Given the description of an element on the screen output the (x, y) to click on. 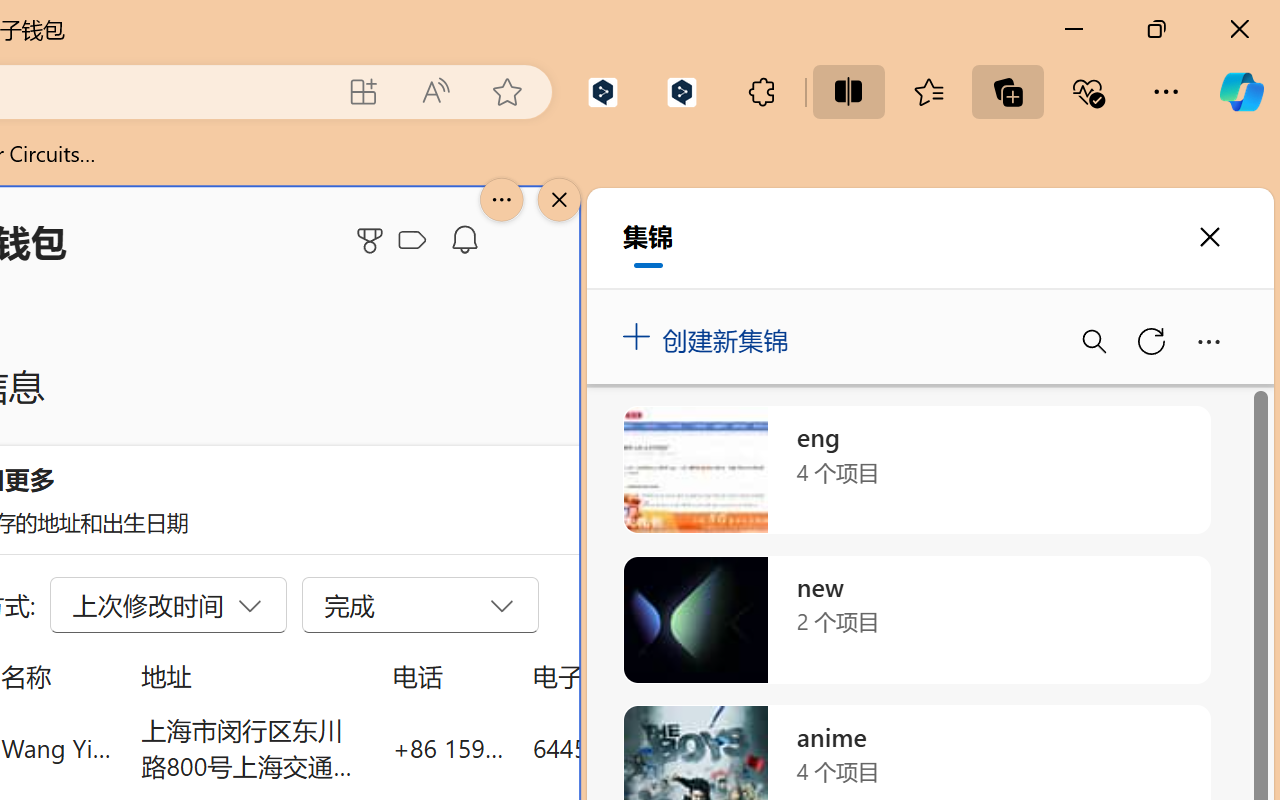
Copilot (Ctrl+Shift+.) (1241, 91)
